Given the description of an element on the screen output the (x, y) to click on. 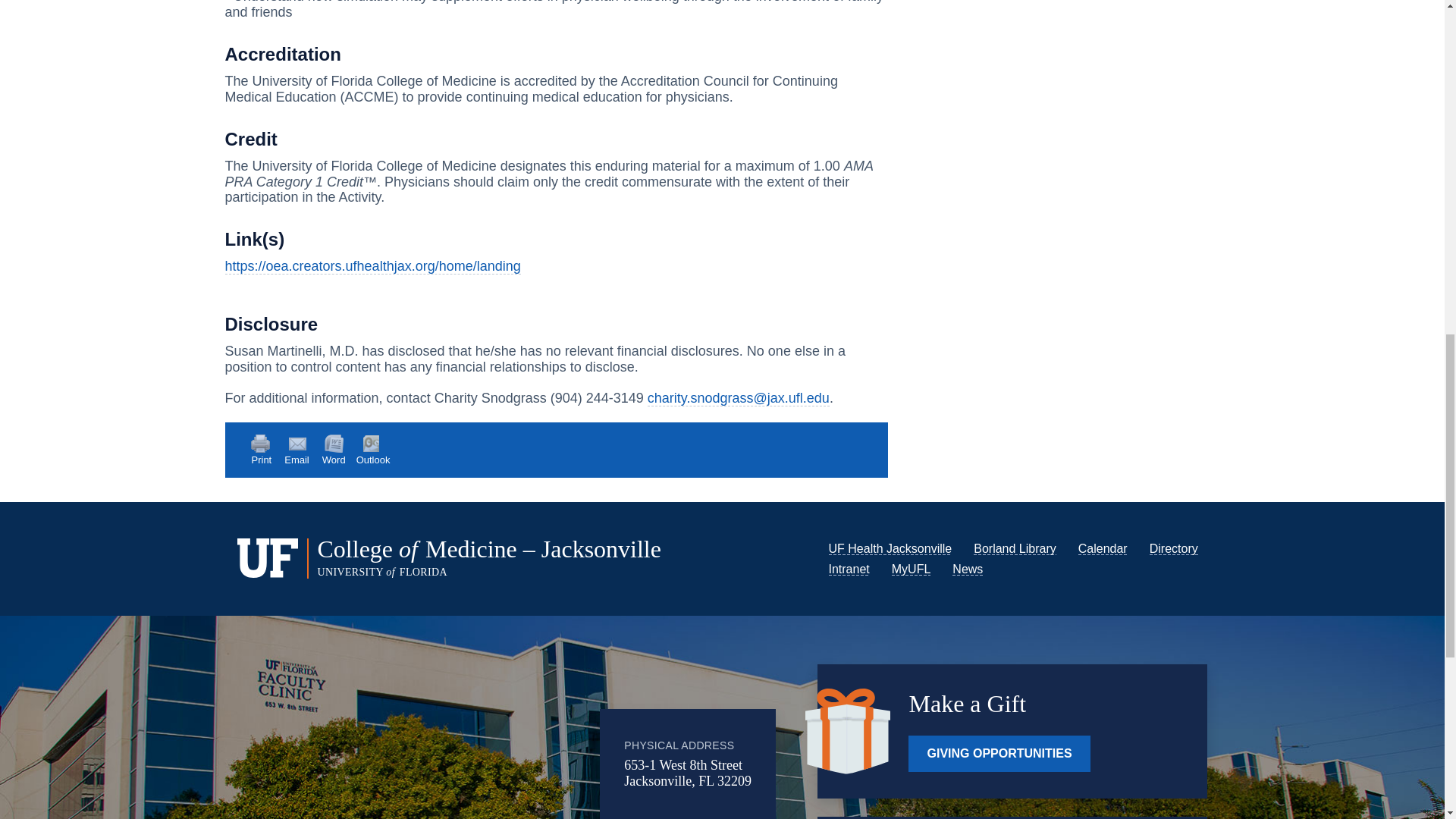
MyUFL (911, 568)
Directory (1174, 548)
Borland Health Science Library (1015, 548)
News (967, 568)
University of Florida Health Jacksonville (890, 548)
Intranet (848, 568)
Calendar (1102, 548)
